Given the description of an element on the screen output the (x, y) to click on. 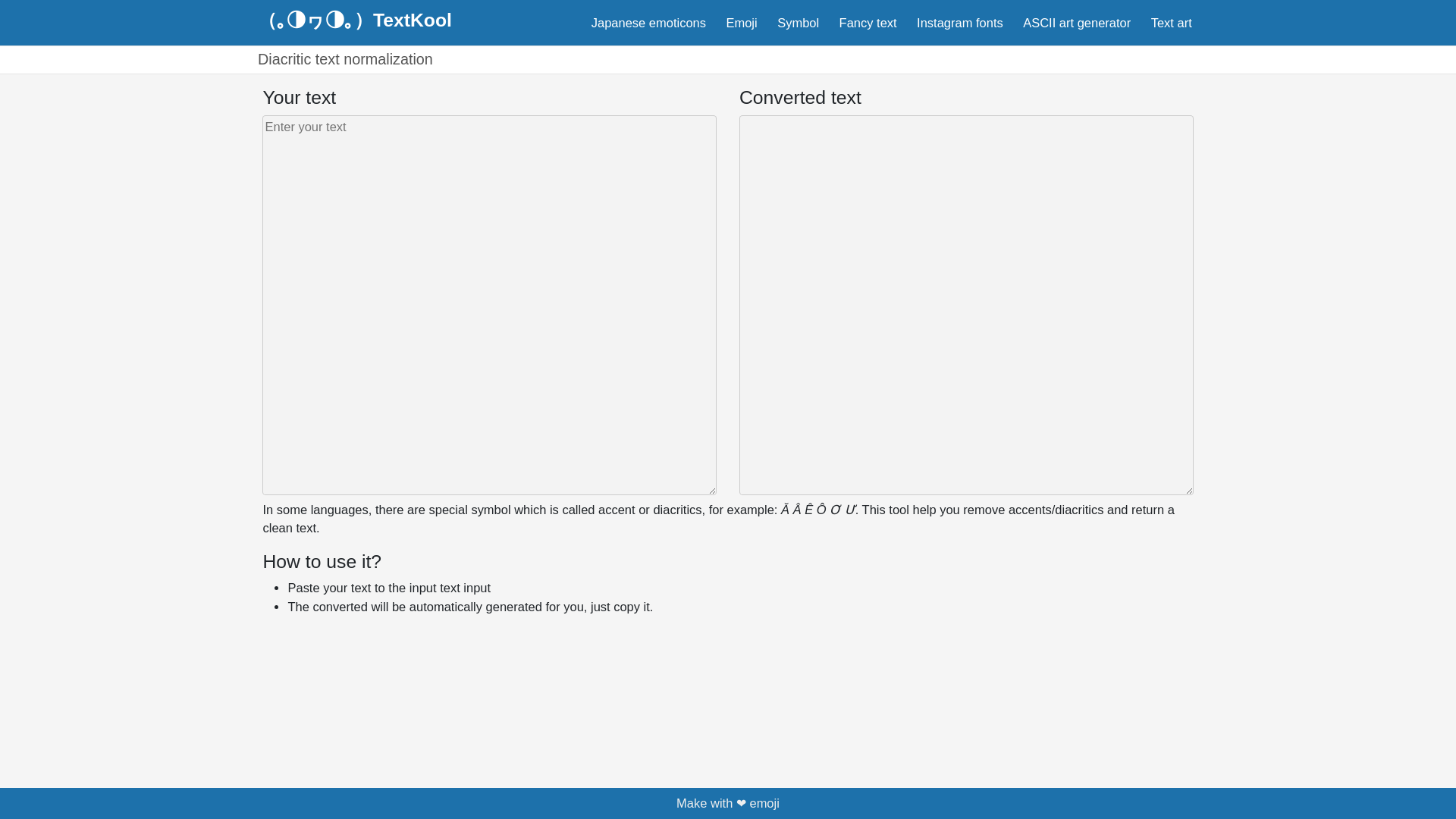
Japanese emoticons (649, 21)
ASCII art generator (1076, 21)
Instagram fonts (960, 21)
Emoji (740, 21)
Symbol (798, 21)
Fancy text (867, 21)
Text art (1171, 21)
